Given the description of an element on the screen output the (x, y) to click on. 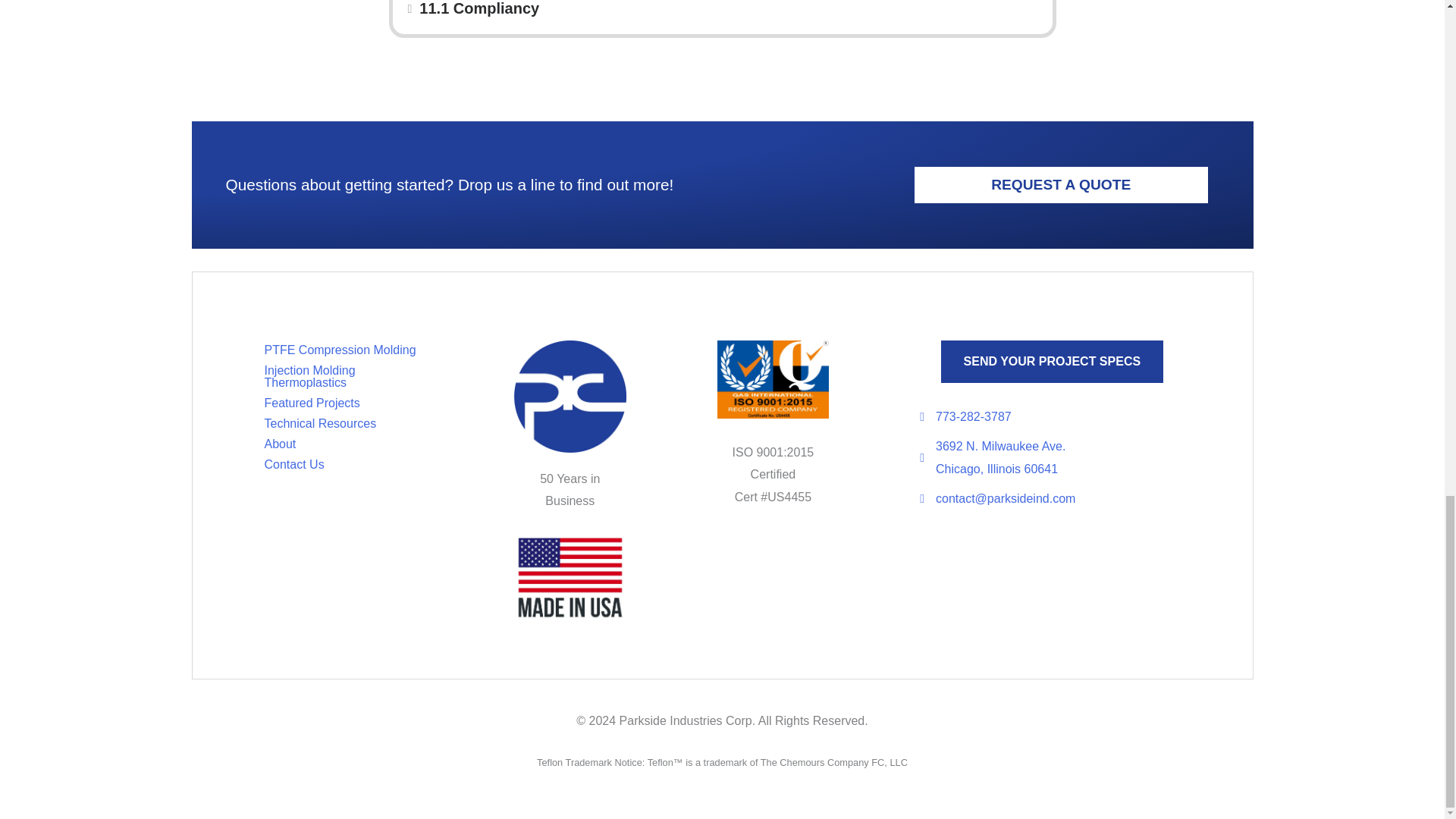
Click Here (1051, 361)
PIC-LOGO1 (569, 396)
US4455-01-web (773, 379)
11.1 Compliancy (727, 11)
